Given the description of an element on the screen output the (x, y) to click on. 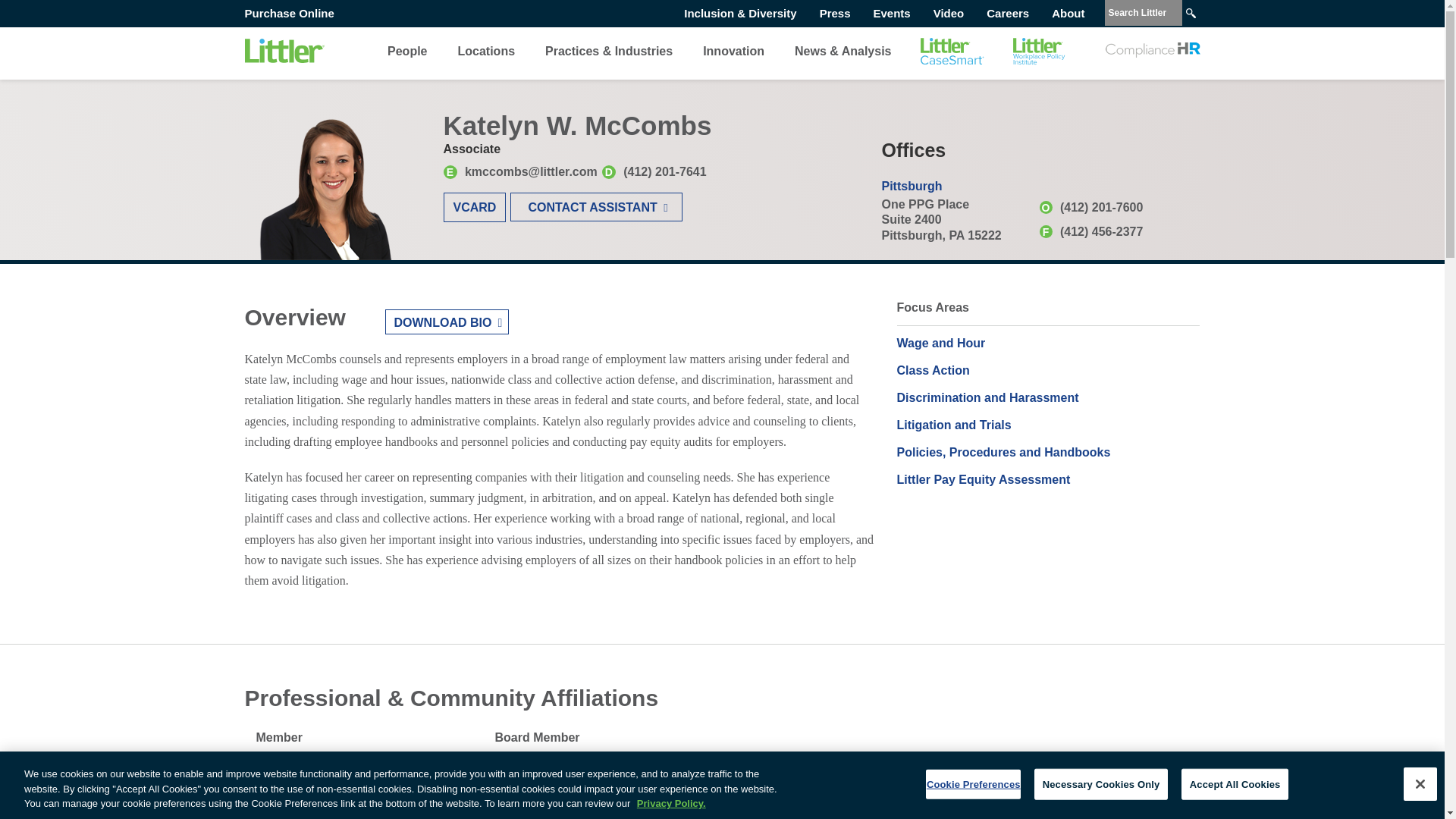
Littler Mendelson P.C. Home (283, 51)
Download (447, 321)
